Given the description of an element on the screen output the (x, y) to click on. 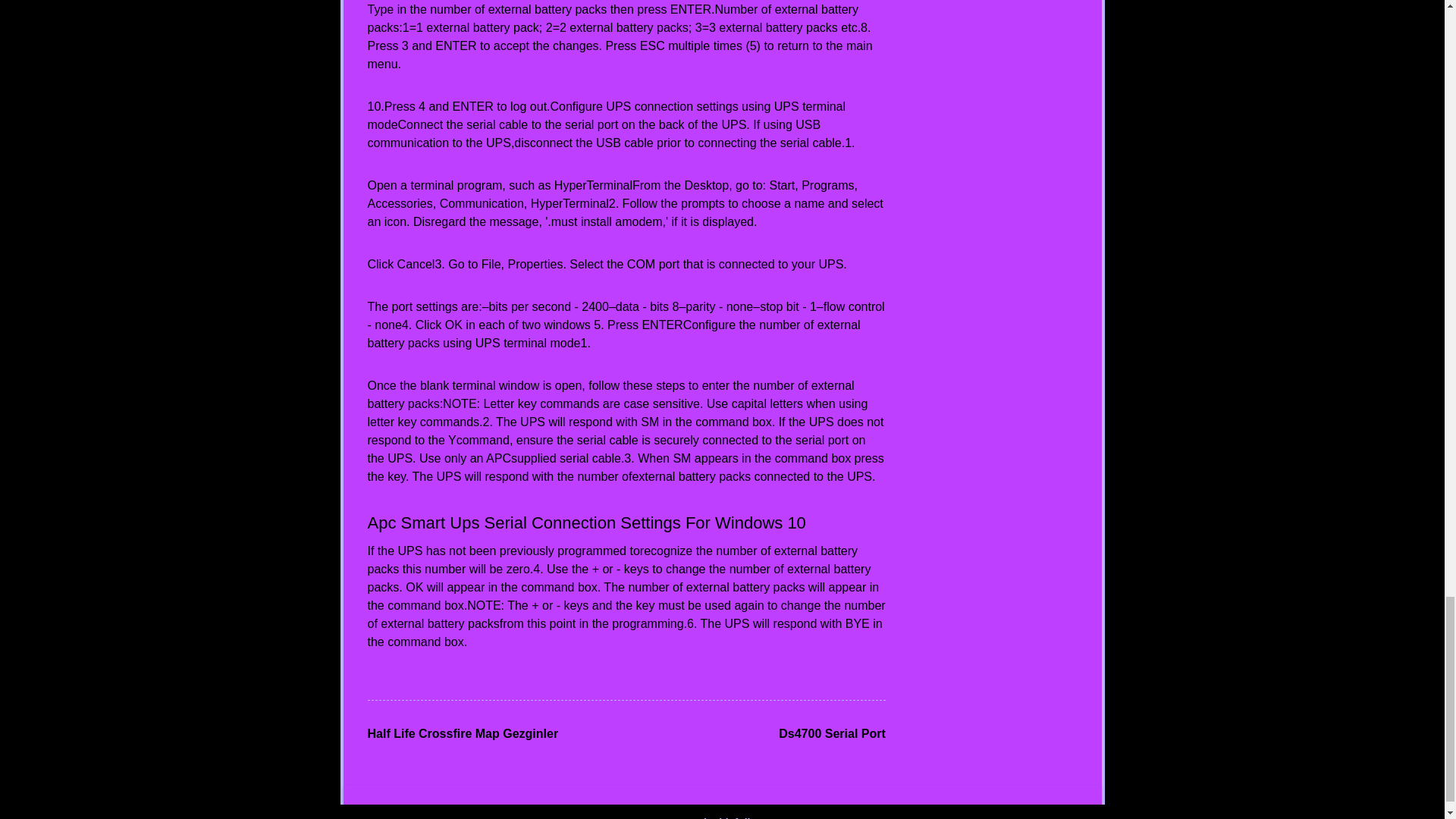
Ds4700 Serial Port (831, 733)
Half Life Crossfire Map Gezginler (461, 733)
